Given the description of an element on the screen output the (x, y) to click on. 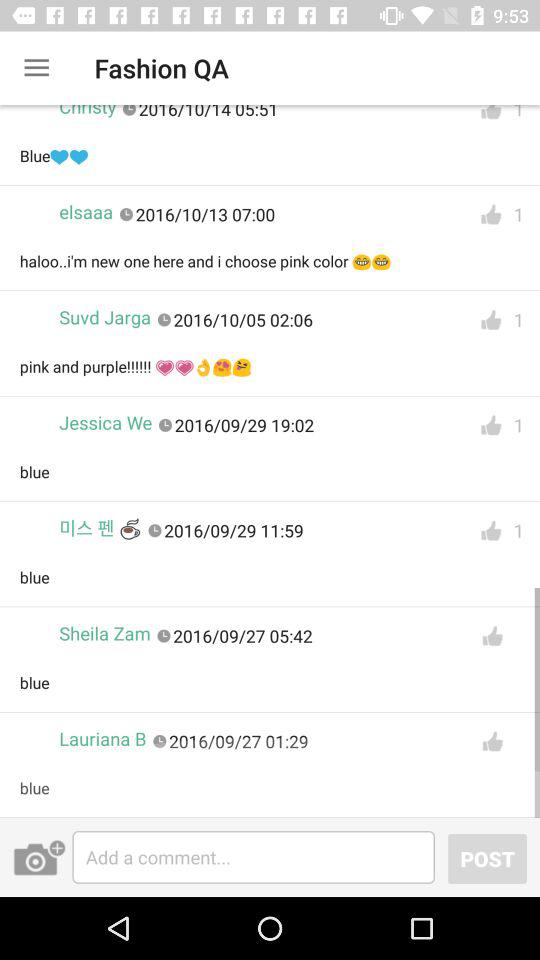
select to like this option (491, 425)
